Given the description of an element on the screen output the (x, y) to click on. 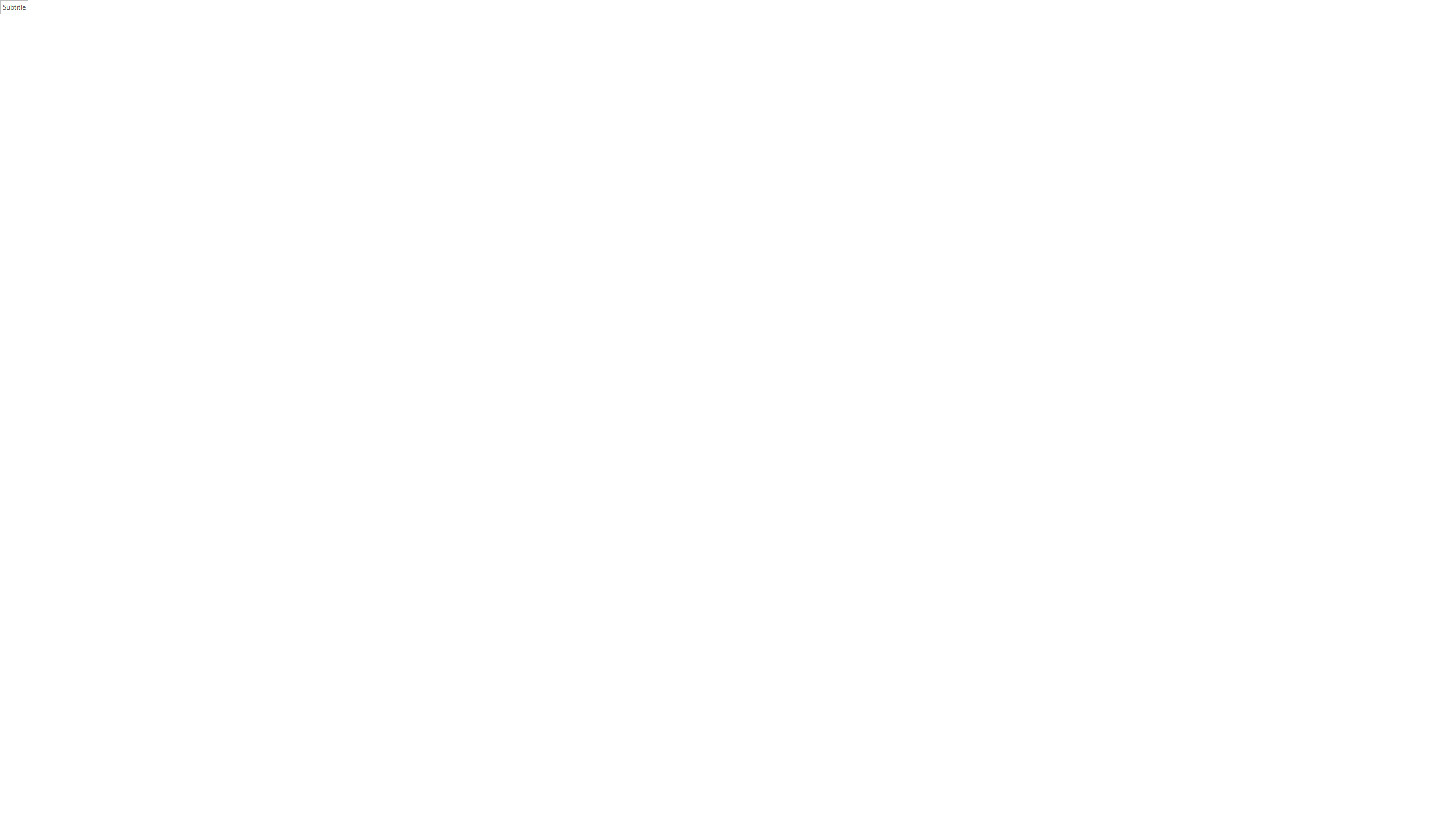
Heading 2 (605, 56)
Text Effects and Typography (202, 67)
Headings (25, 150)
Distributed (354, 67)
AutomationID: QuickStylesGallery (794, 56)
Grow Font (193, 49)
Decrease Indent (370, 49)
Zoom 100% (1443, 790)
Class: MsoCommandBar (728, 789)
Sort... (426, 49)
